Given the description of an element on the screen output the (x, y) to click on. 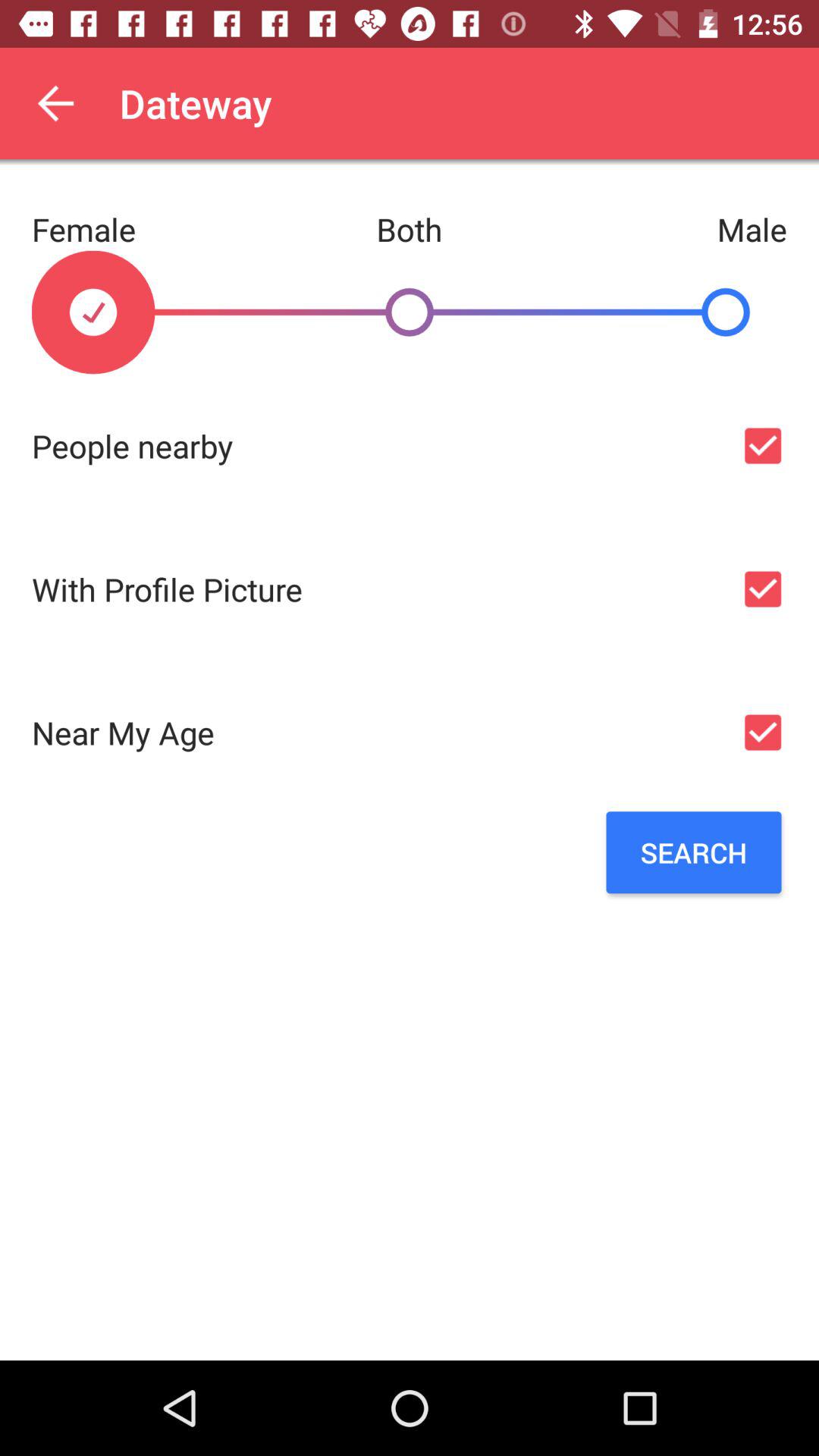
toggle to see nearby people option (762, 445)
